Given the description of an element on the screen output the (x, y) to click on. 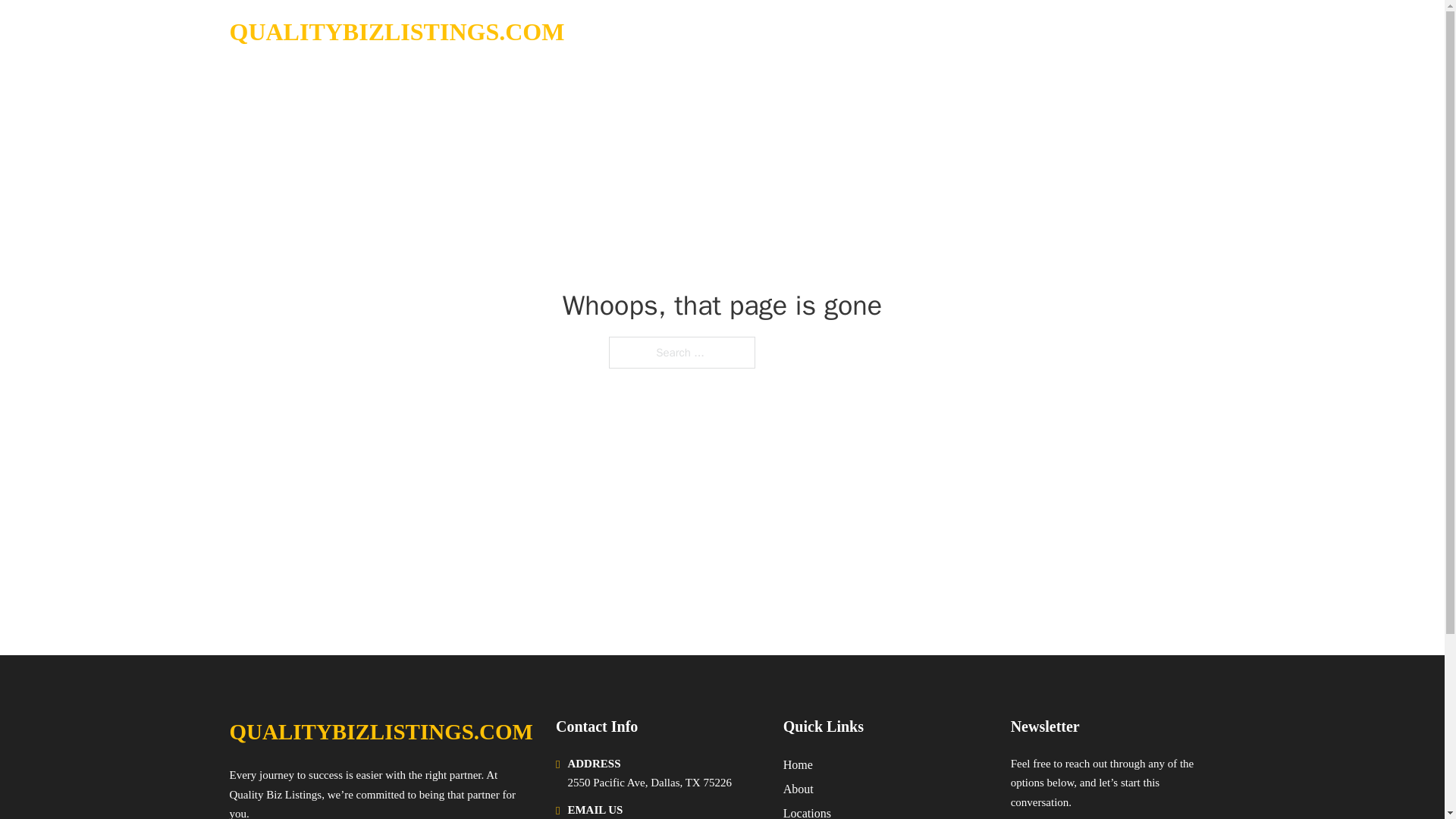
LOCATIONS (1098, 31)
Home (797, 764)
About (798, 788)
HOME (1025, 31)
QUALITYBIZLISTINGS.COM (396, 31)
Locations (807, 811)
QUALITYBIZLISTINGS.COM (380, 732)
